Given the description of an element on the screen output the (x, y) to click on. 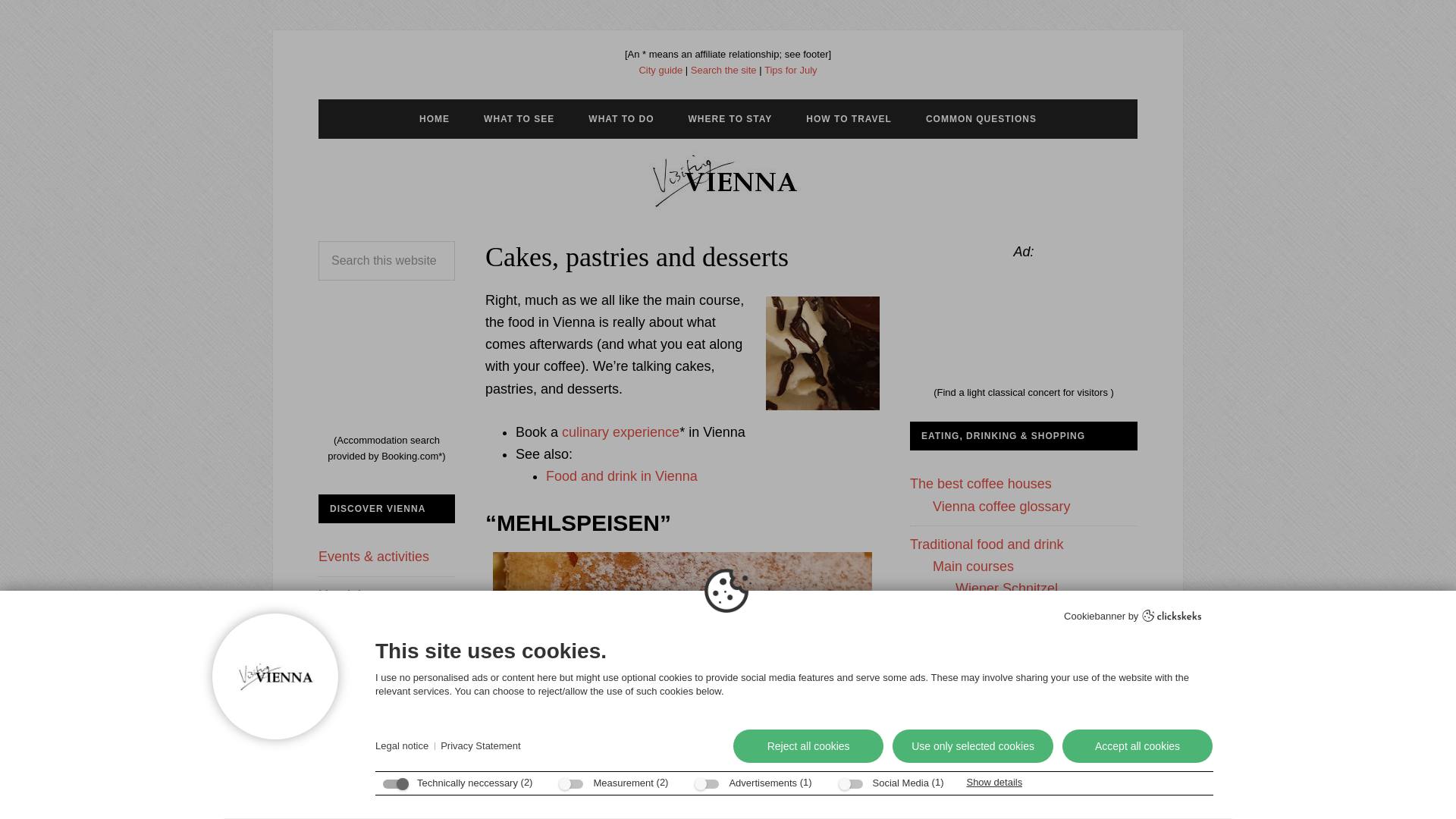
WHAT TO SEE (518, 118)
Food and drink in Vienna (621, 476)
Wiener Schnitzel (1006, 588)
Austrian beer (973, 788)
Pastries and desserts (998, 611)
The Sachertorte (1003, 676)
Drinking water (976, 765)
COMMON QUESTIONS (981, 118)
Bread (951, 721)
Tips for July (790, 70)
WHERE TO STAY (729, 118)
VISITING VIENNA (727, 179)
Clickskeks Logo (1171, 615)
HOME (434, 118)
